Given the description of an element on the screen output the (x, y) to click on. 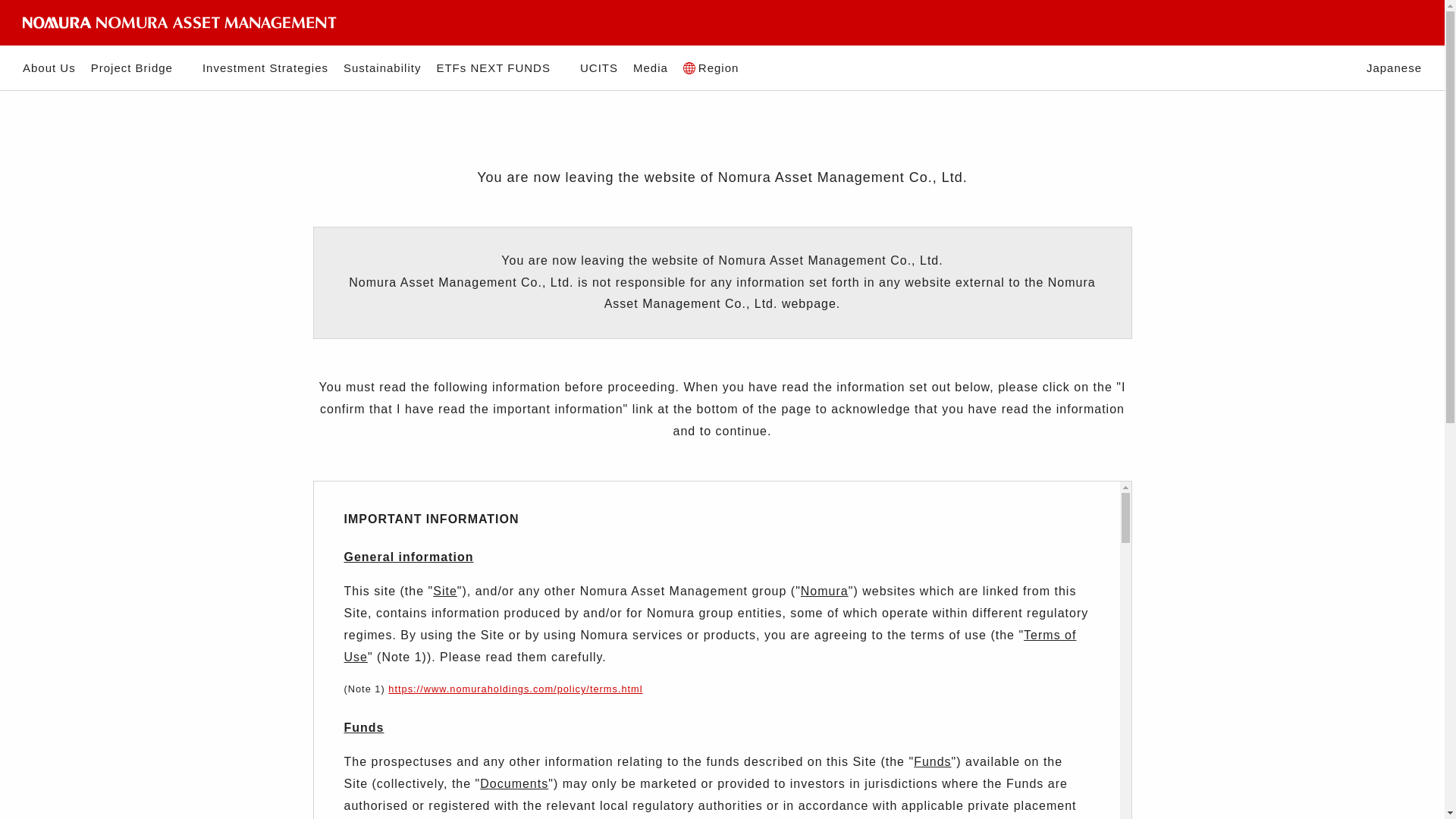
Japanese (1394, 67)
Project Bridge (138, 67)
UCITS (598, 67)
ETFs NEXT FUNDS (499, 67)
